Given the description of an element on the screen output the (x, y) to click on. 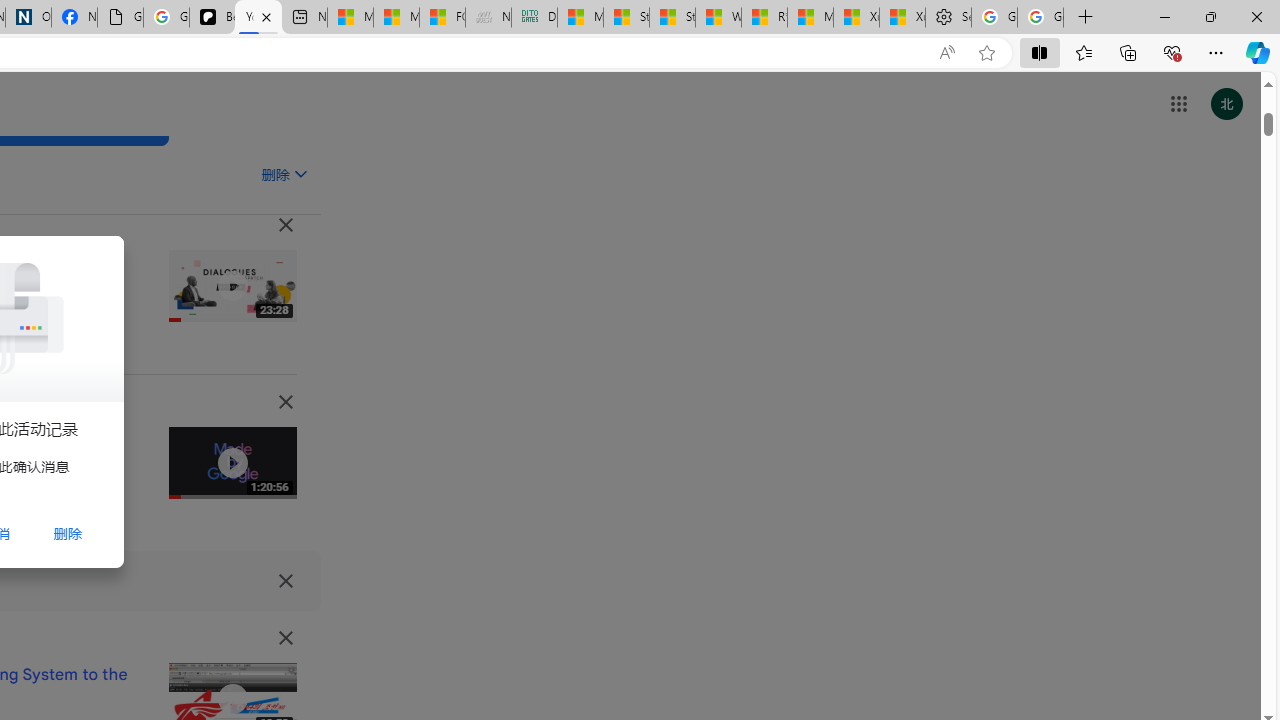
Class: IVR0f NMm5M (231, 699)
Google Analytics Opt-out Browser Add-on Download Page (120, 17)
